Given the description of an element on the screen output the (x, y) to click on. 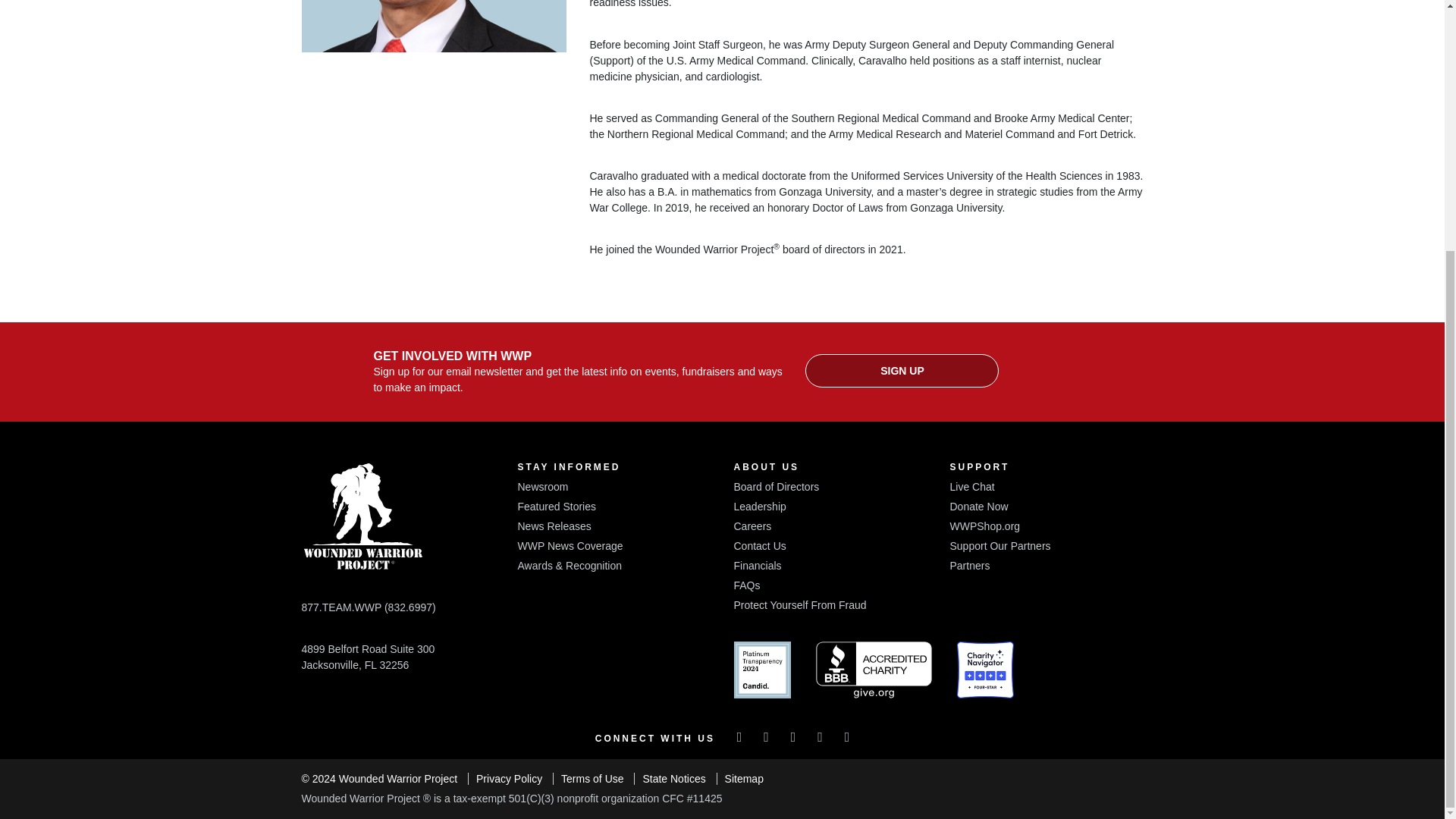
Chat (971, 486)
Corporate Partnerships (969, 565)
Support Our Partners (999, 545)
General WWP FAQs (746, 585)
Board of Directors (776, 486)
Financials (757, 565)
Leadership (759, 506)
Careers (752, 526)
Report Fraud (799, 604)
Contact Us (759, 545)
